Given the description of an element on the screen output the (x, y) to click on. 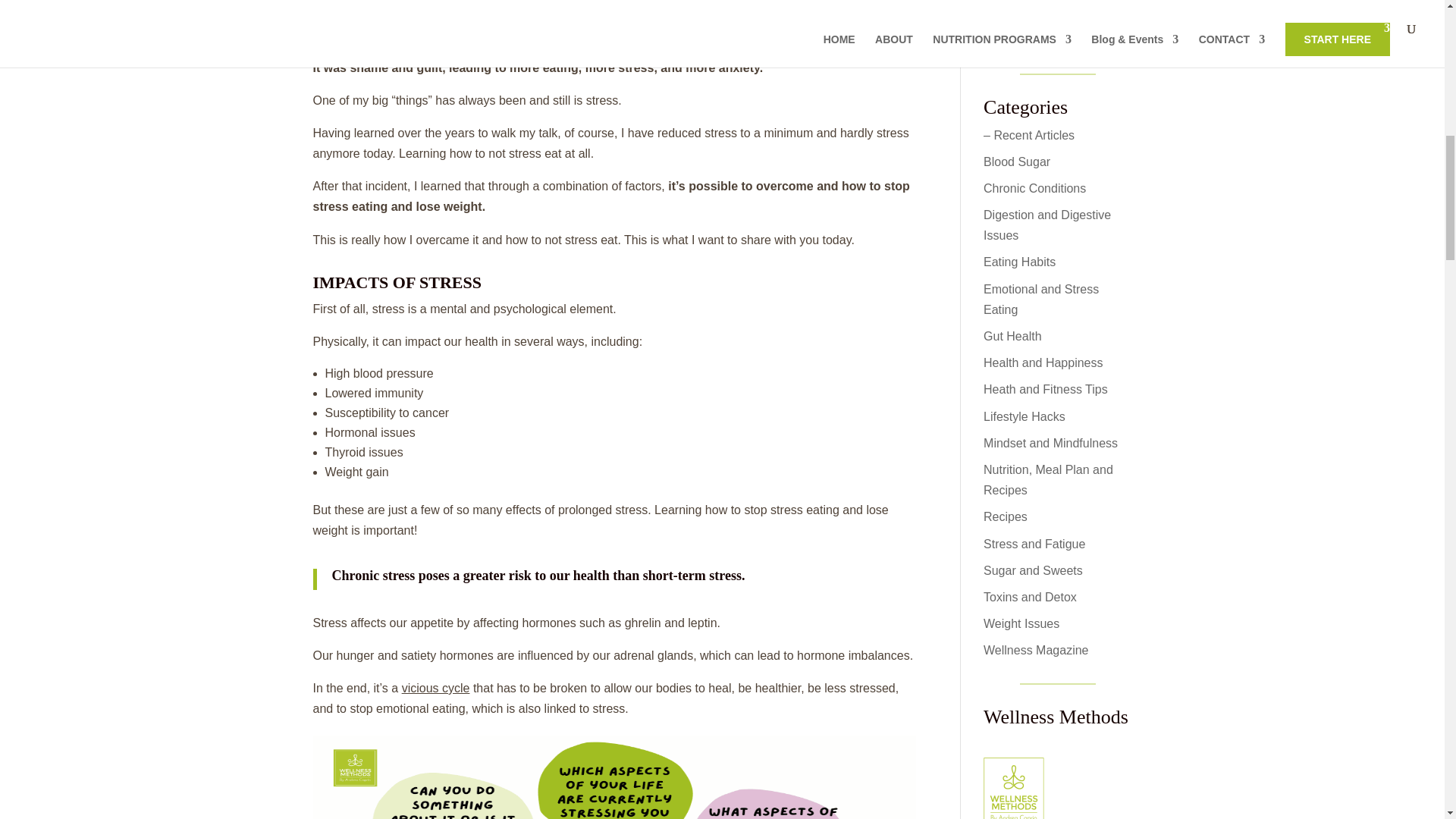
how to stop stress eating and lose weight (614, 777)
